Given the description of an element on the screen output the (x, y) to click on. 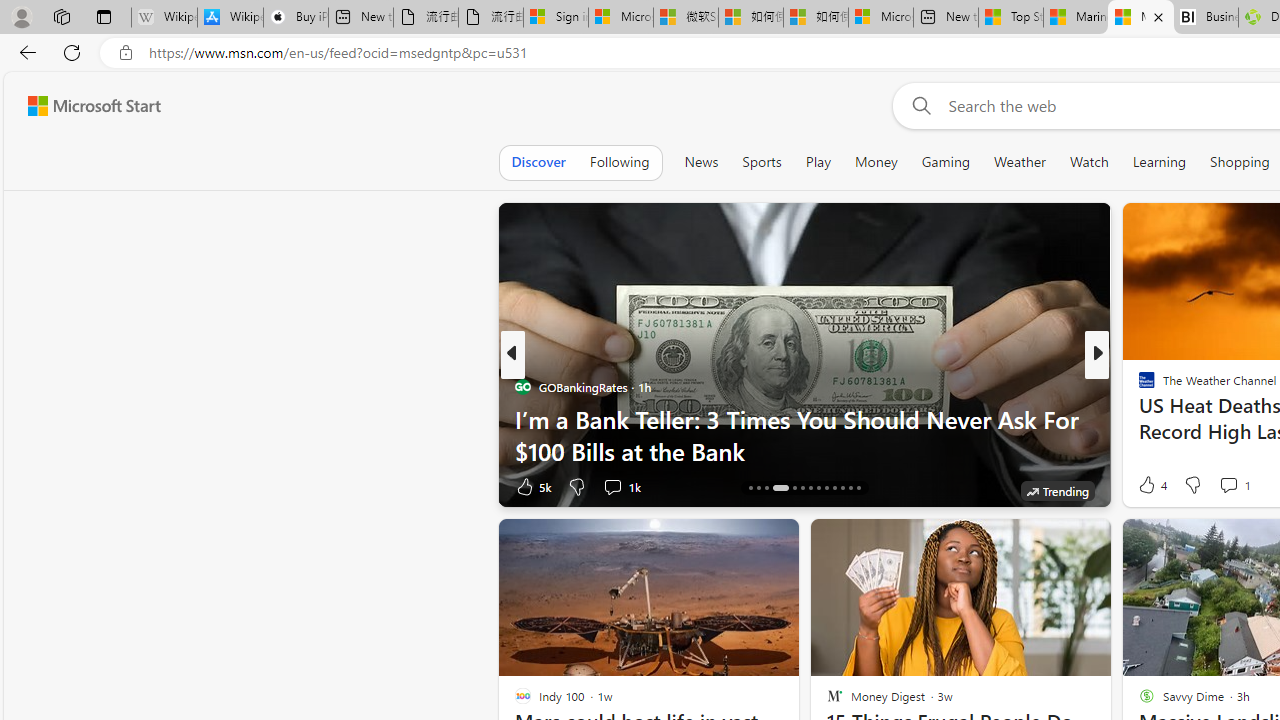
Watch (1089, 162)
311 Like (1151, 486)
A Conscious Rethink (1138, 386)
AutomationID: tab-21 (818, 487)
123 Like (1151, 486)
AutomationID: tab-20 (810, 487)
Learning (1159, 162)
AutomationID: tab-14 (750, 487)
View comments 2 Comment (1229, 485)
